Given the description of an element on the screen output the (x, y) to click on. 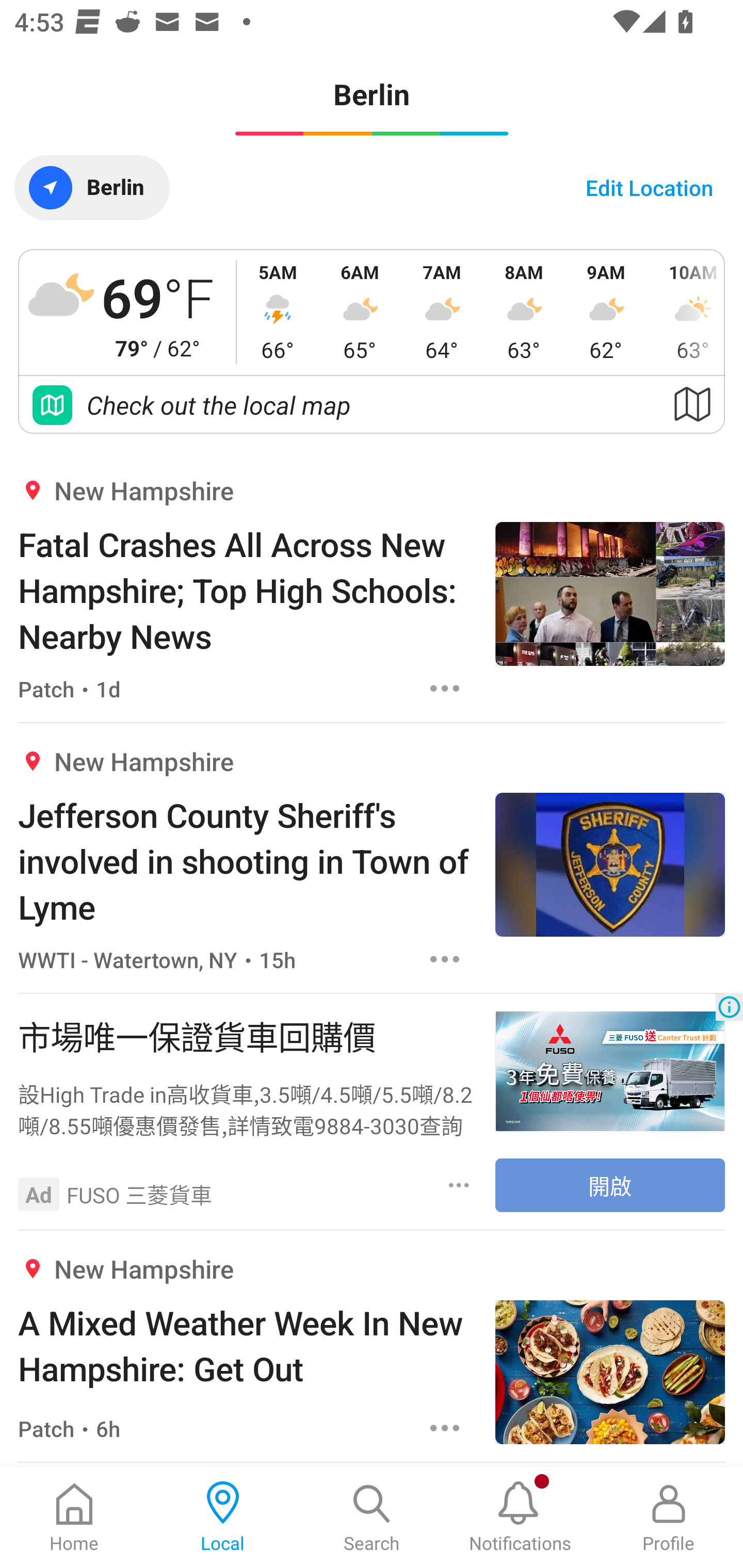
Berlin (91, 187)
Edit Location (648, 187)
5AM 66° (277, 311)
6AM 65° (359, 311)
7AM 64° (441, 311)
8AM 63° (523, 311)
9AM 62° (605, 311)
10AM 63° (686, 311)
Check out the local map (371, 405)
Options (444, 688)
Options (444, 959)
Ad Choices Icon (729, 1007)
市場唯一保證貨車回購價 (247, 1035)
開啟 (610, 1185)
Options (459, 1184)
FUSO 三菱貨車 (138, 1193)
Options (444, 1428)
Home (74, 1517)
Search (371, 1517)
Notifications, New notification Notifications (519, 1517)
Profile (668, 1517)
